Given the description of an element on the screen output the (x, y) to click on. 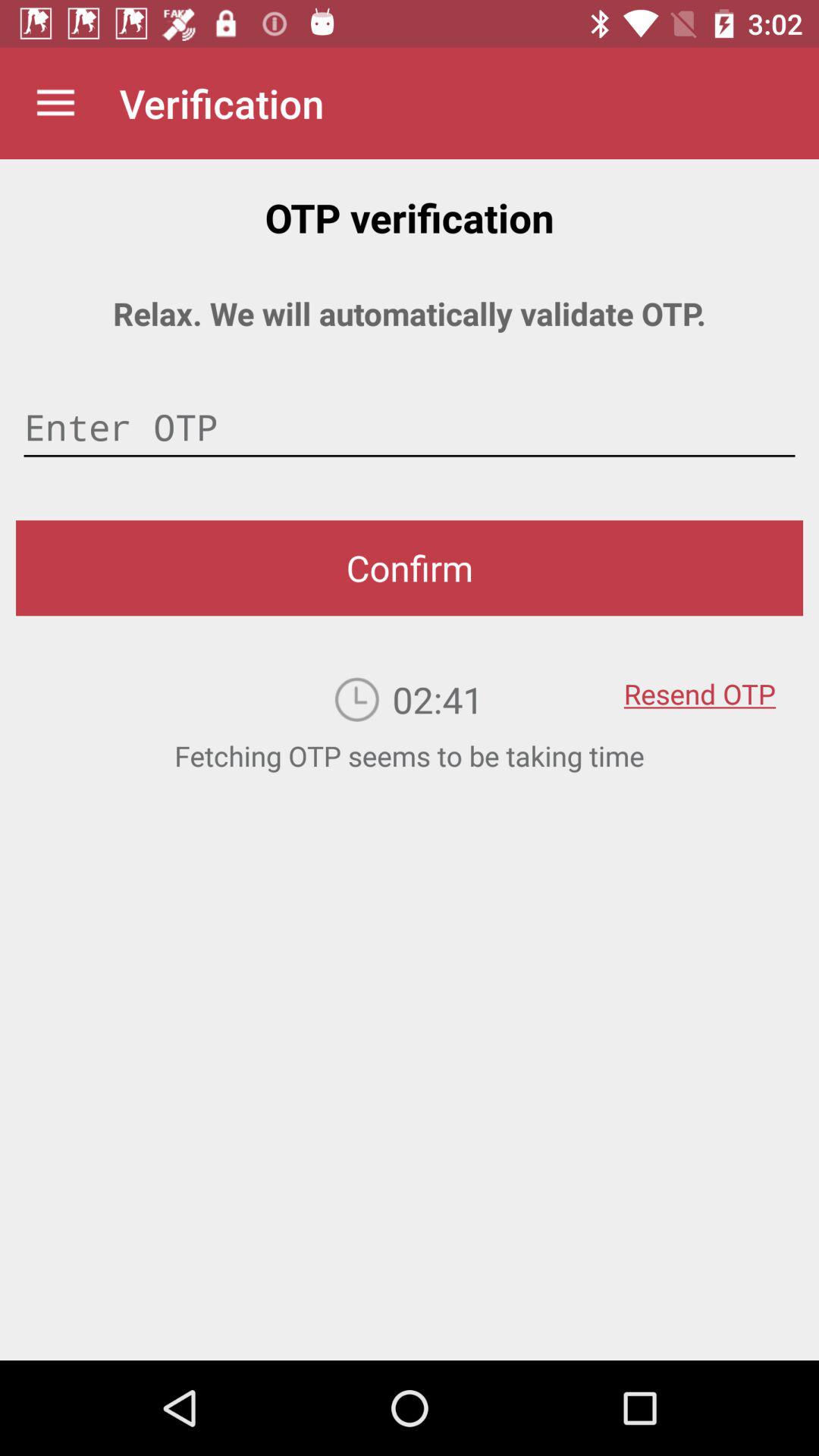
open item below the confirm item (699, 683)
